Given the description of an element on the screen output the (x, y) to click on. 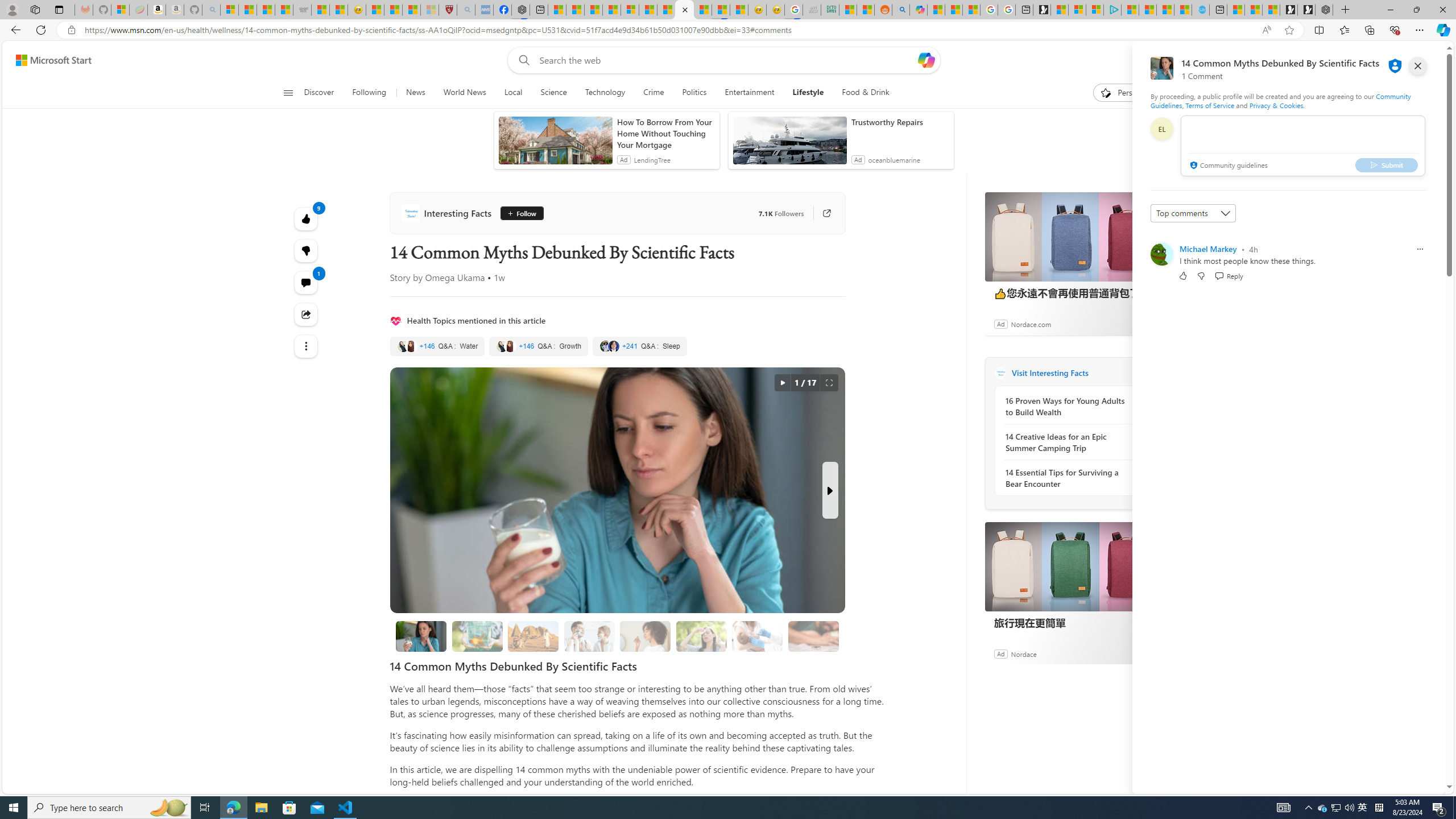
Politics (694, 92)
12. Invest in a Spider Catcher (813, 636)
Interesting Facts (448, 212)
Personalize (1128, 92)
How To Borrow From Your Home Without Touching Your Mortgage (664, 133)
Food & Drink (860, 92)
Go to publisher's site (820, 213)
Politics (694, 92)
